Given the description of an element on the screen output the (x, y) to click on. 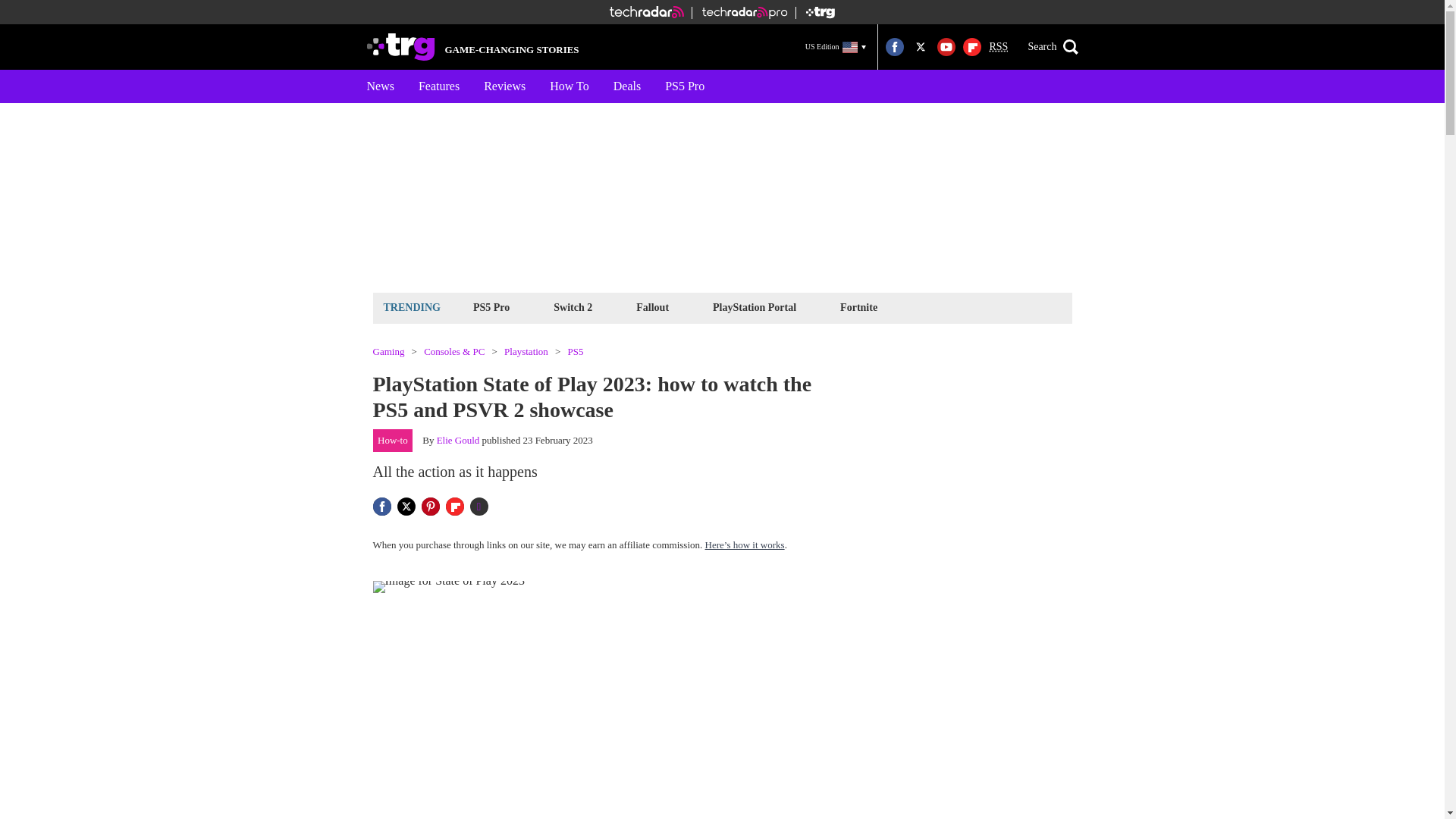
Fallout (652, 307)
How To (568, 86)
PlayStation Portal (754, 307)
Features (438, 86)
Reviews (504, 86)
Really Simple Syndication (997, 46)
Deals (626, 86)
PS5 Pro (491, 307)
News (380, 86)
Switch 2 (572, 307)
